Given the description of an element on the screen output the (x, y) to click on. 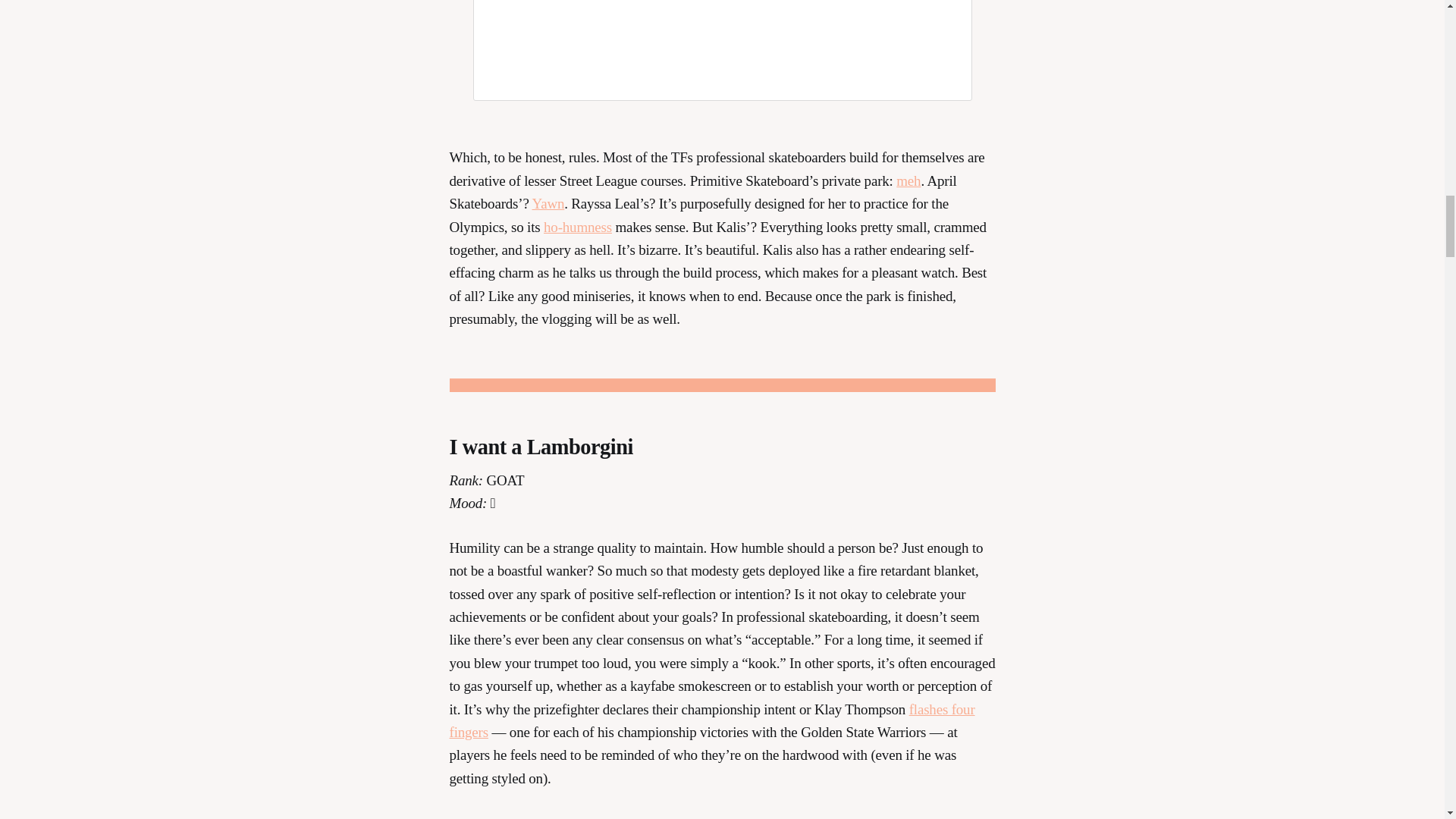
ho-humness (577, 227)
meh (908, 180)
Yawn (548, 203)
flashes four fingers (711, 720)
